Given the description of an element on the screen output the (x, y) to click on. 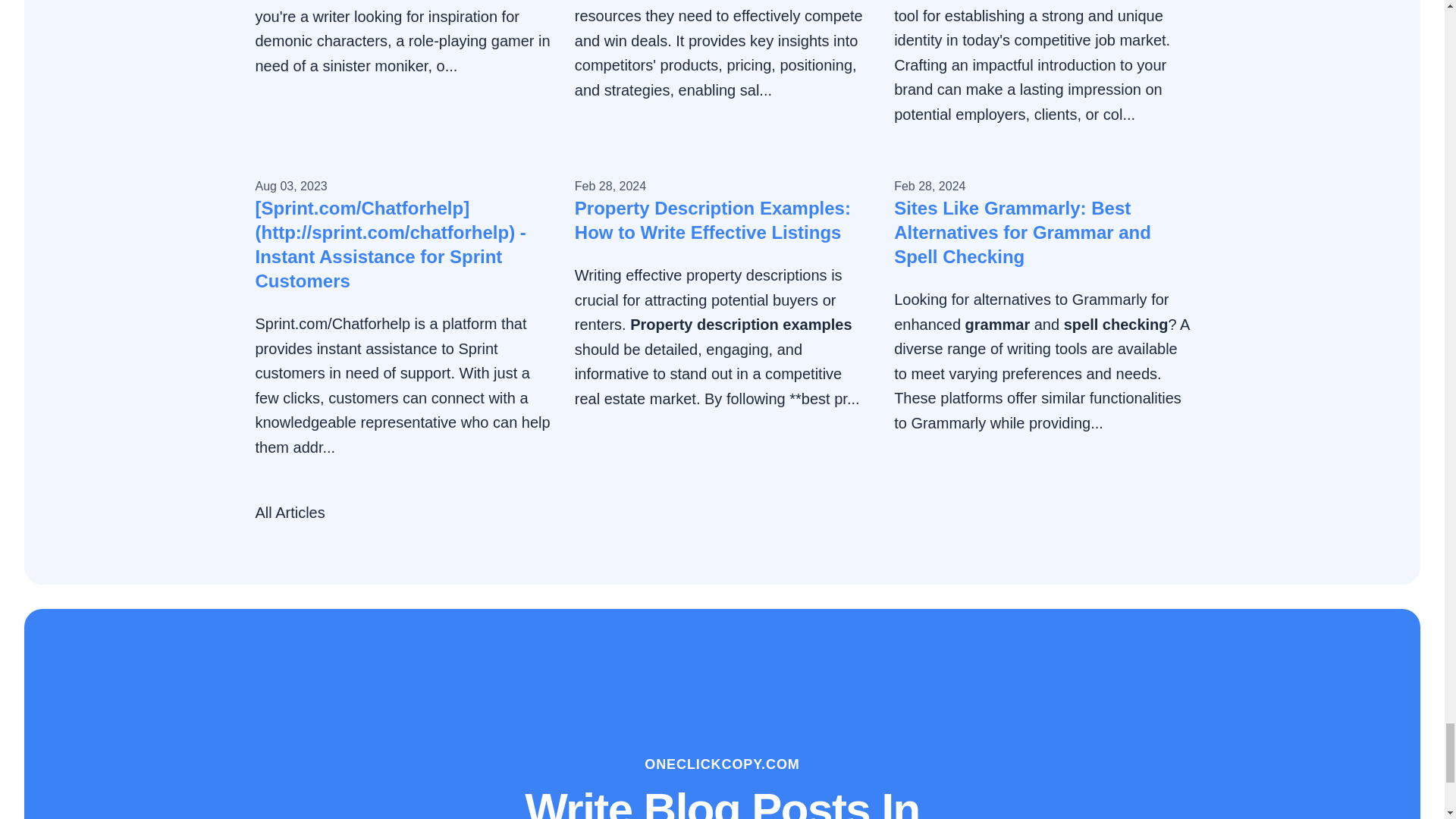
All Articles (289, 512)
